Given the description of an element on the screen output the (x, y) to click on. 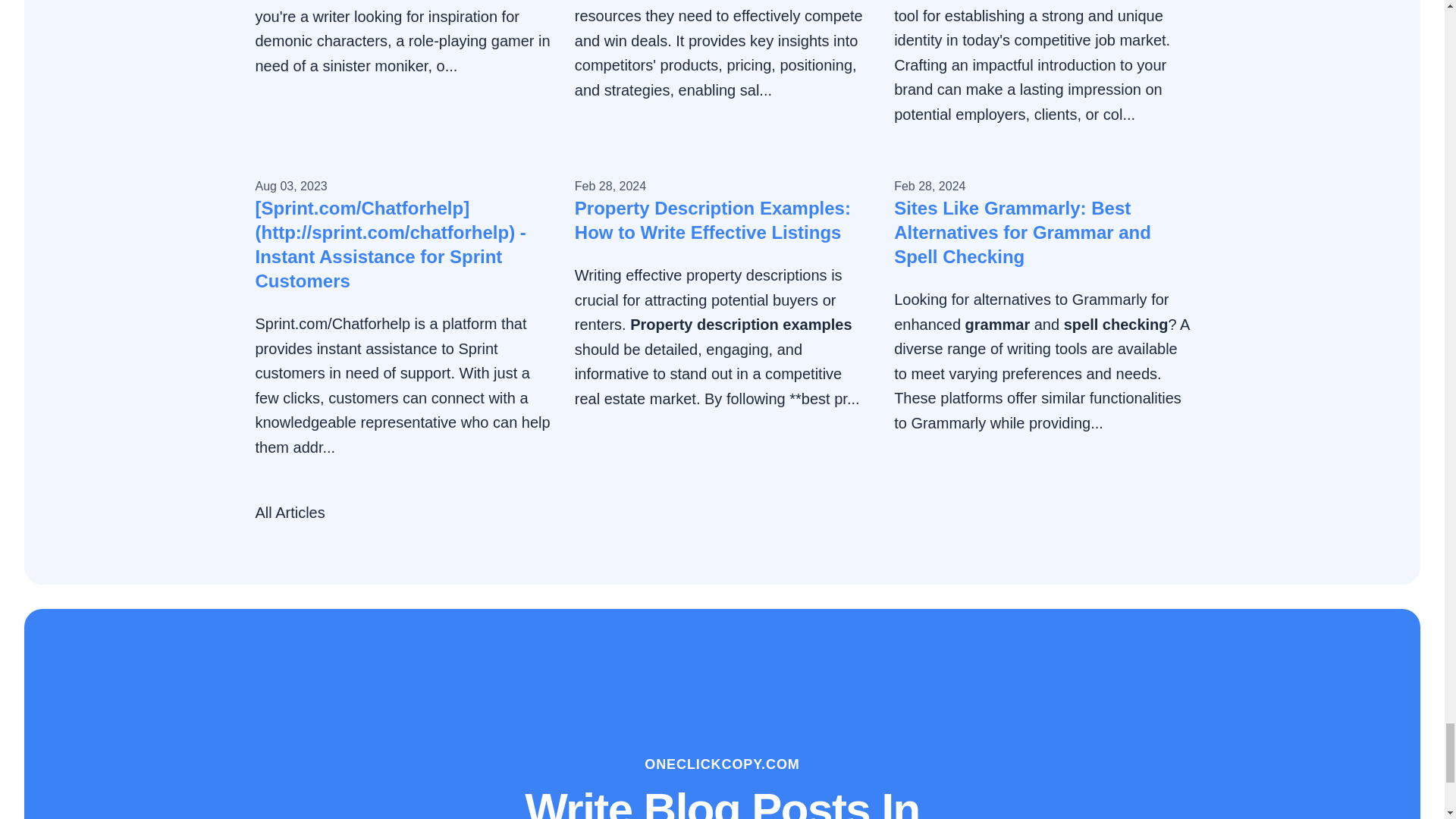
All Articles (289, 512)
